Given the description of an element on the screen output the (x, y) to click on. 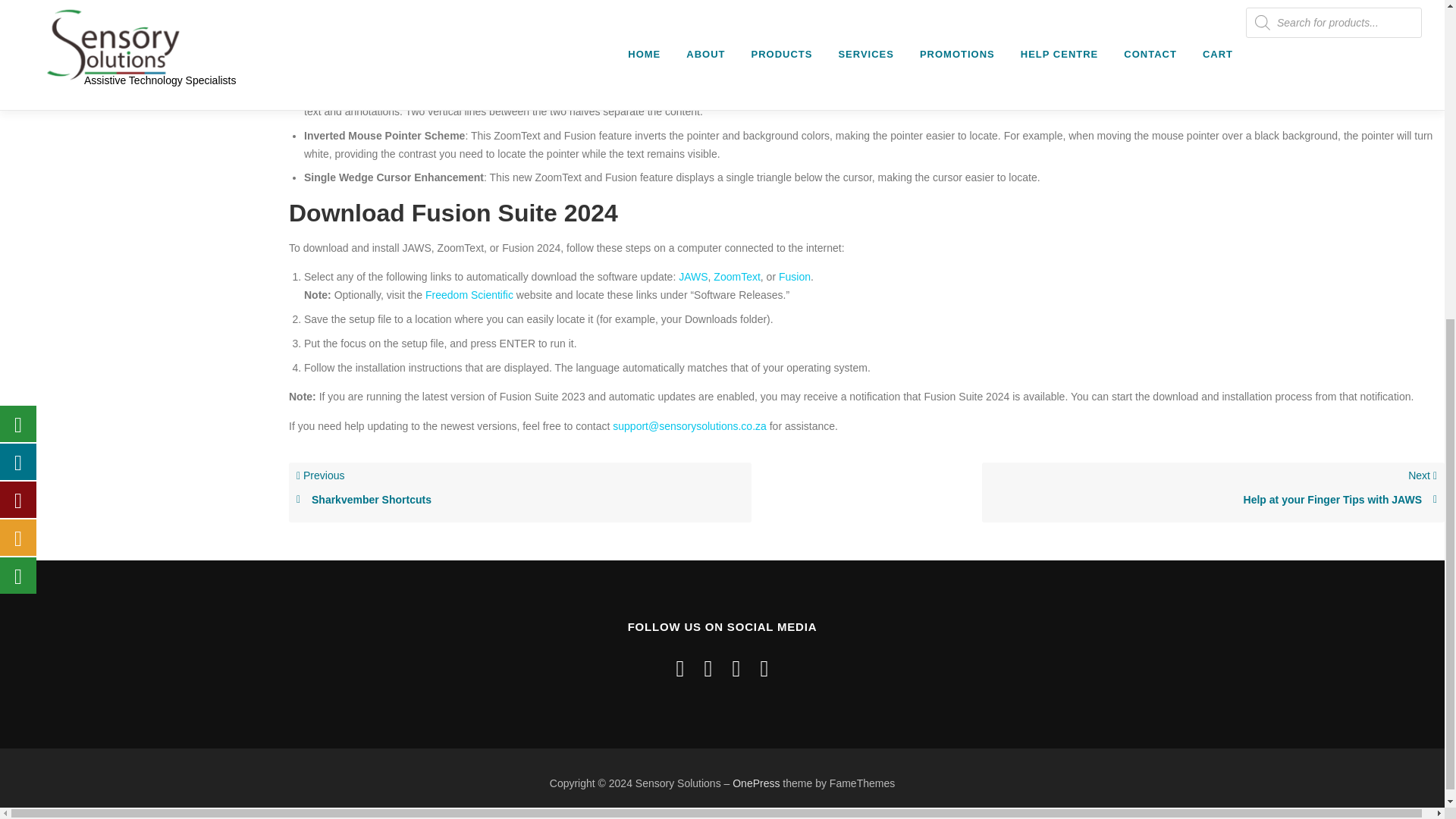
Sharkvember Shortcuts (520, 499)
Help at your Finger Tips with JAWS (1213, 499)
